Given the description of an element on the screen output the (x, y) to click on. 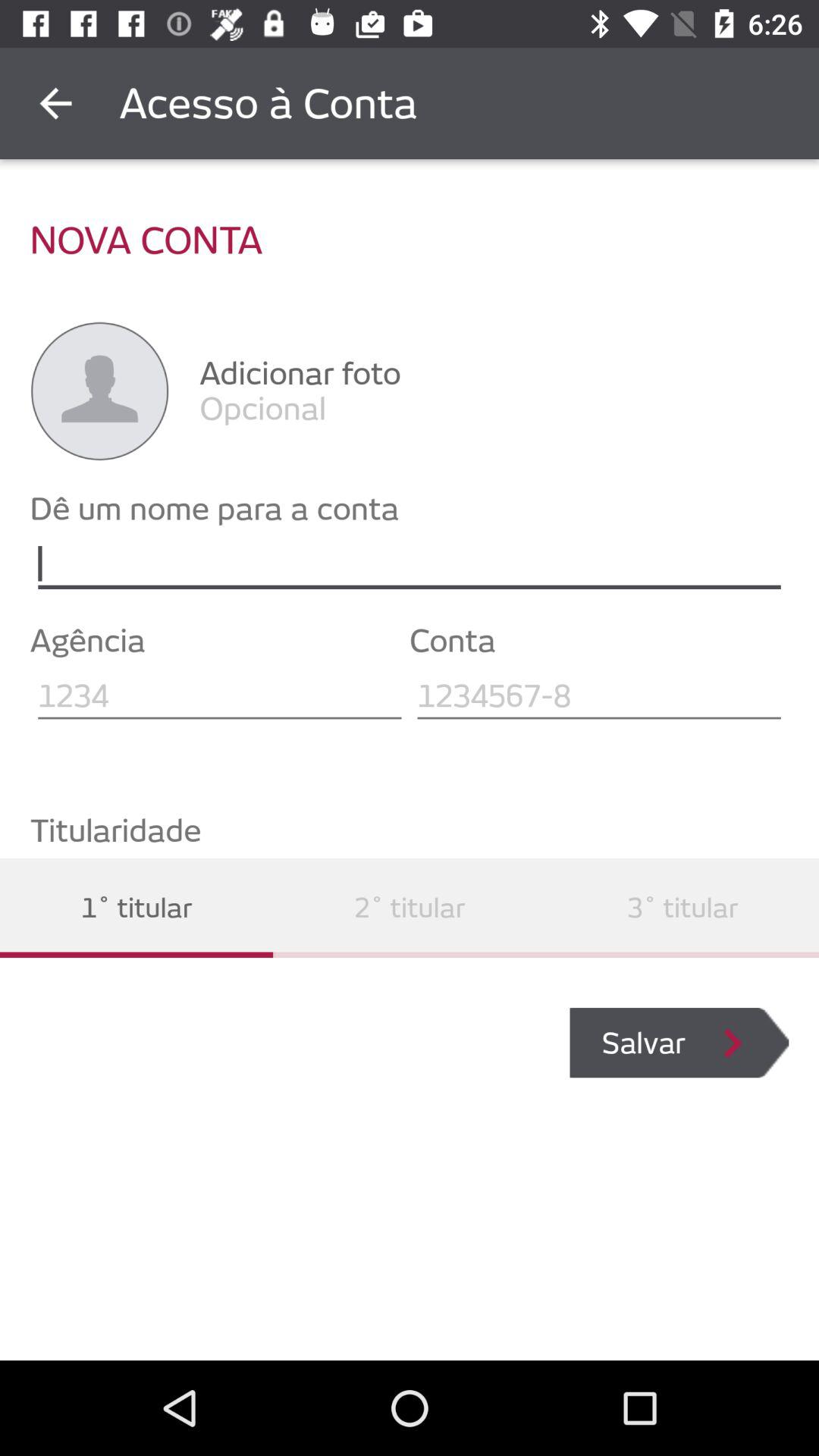
enter name of contact (409, 564)
